Given the description of an element on the screen output the (x, y) to click on. 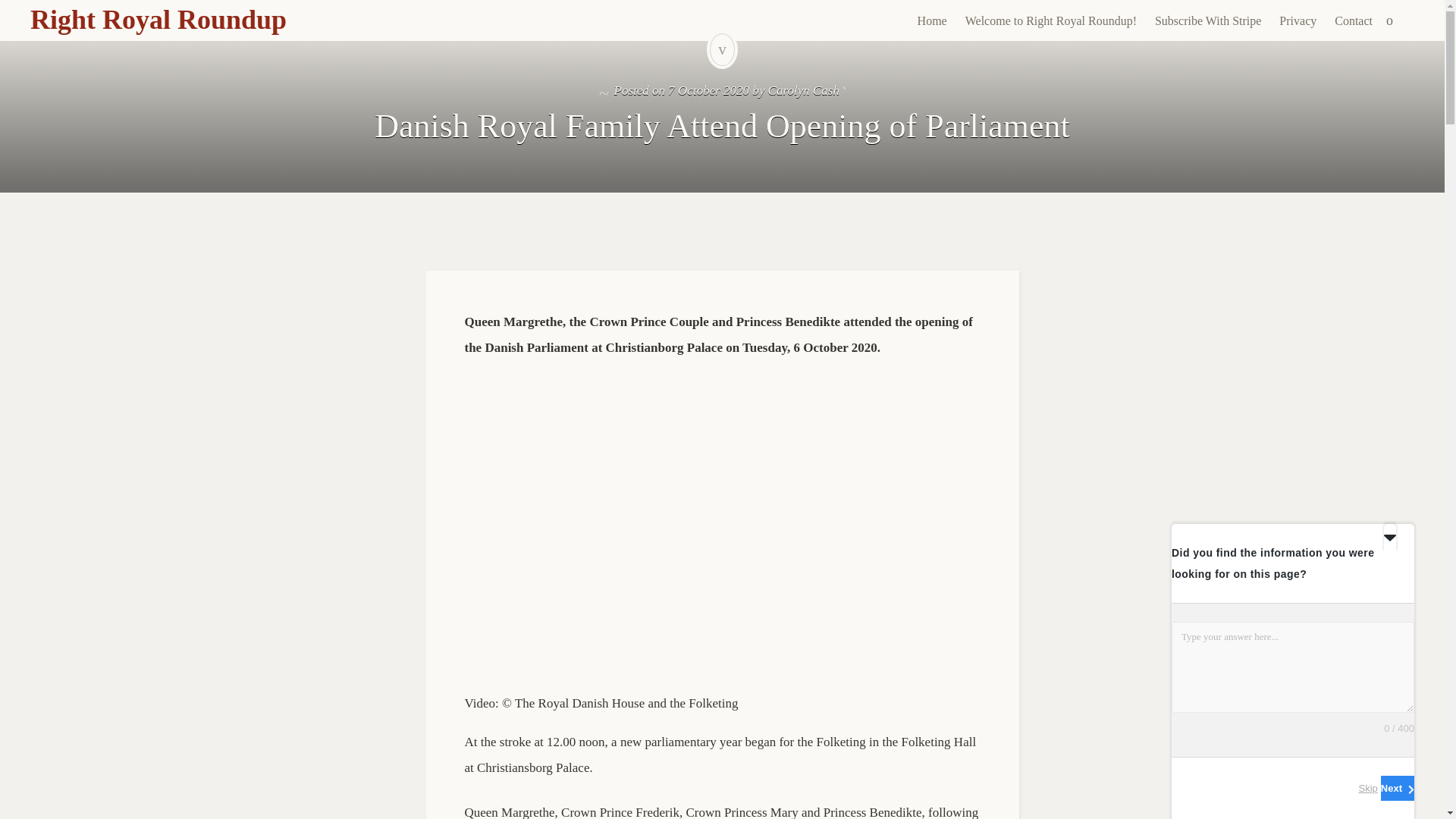
Right Royal Roundup (158, 19)
Skip to content (919, 44)
Welcome to Right Royal Roundup! (1051, 21)
Privacy (1297, 21)
Home (932, 21)
Contact (1353, 21)
Right Royal Roundup (158, 19)
7 October 2020 (708, 90)
Skip to content (919, 44)
Carolyn Cash (804, 90)
Subscribe With Stripe (1207, 21)
Search (11, 9)
